Given the description of an element on the screen output the (x, y) to click on. 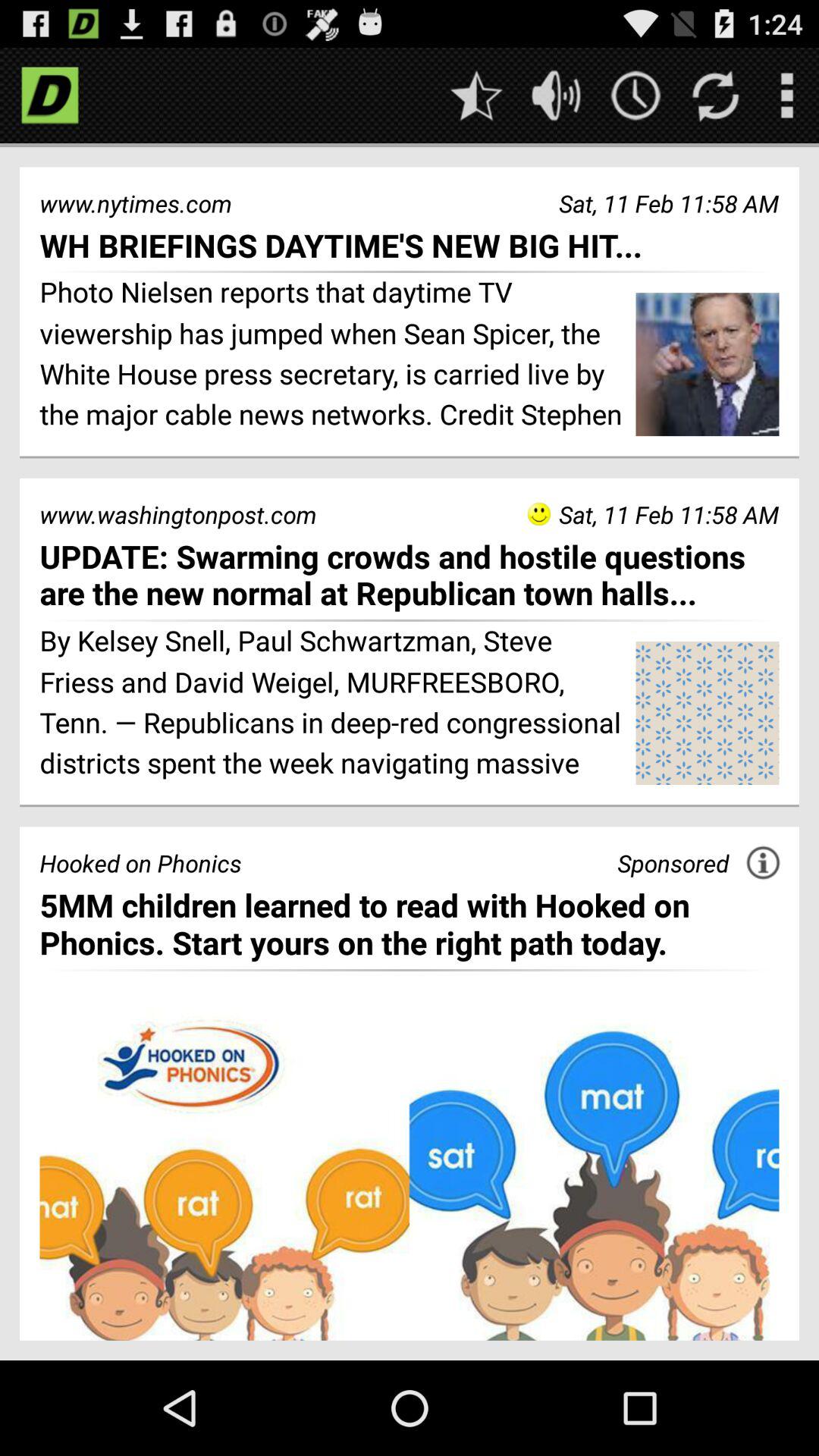
go home (49, 95)
